Given the description of an element on the screen output the (x, y) to click on. 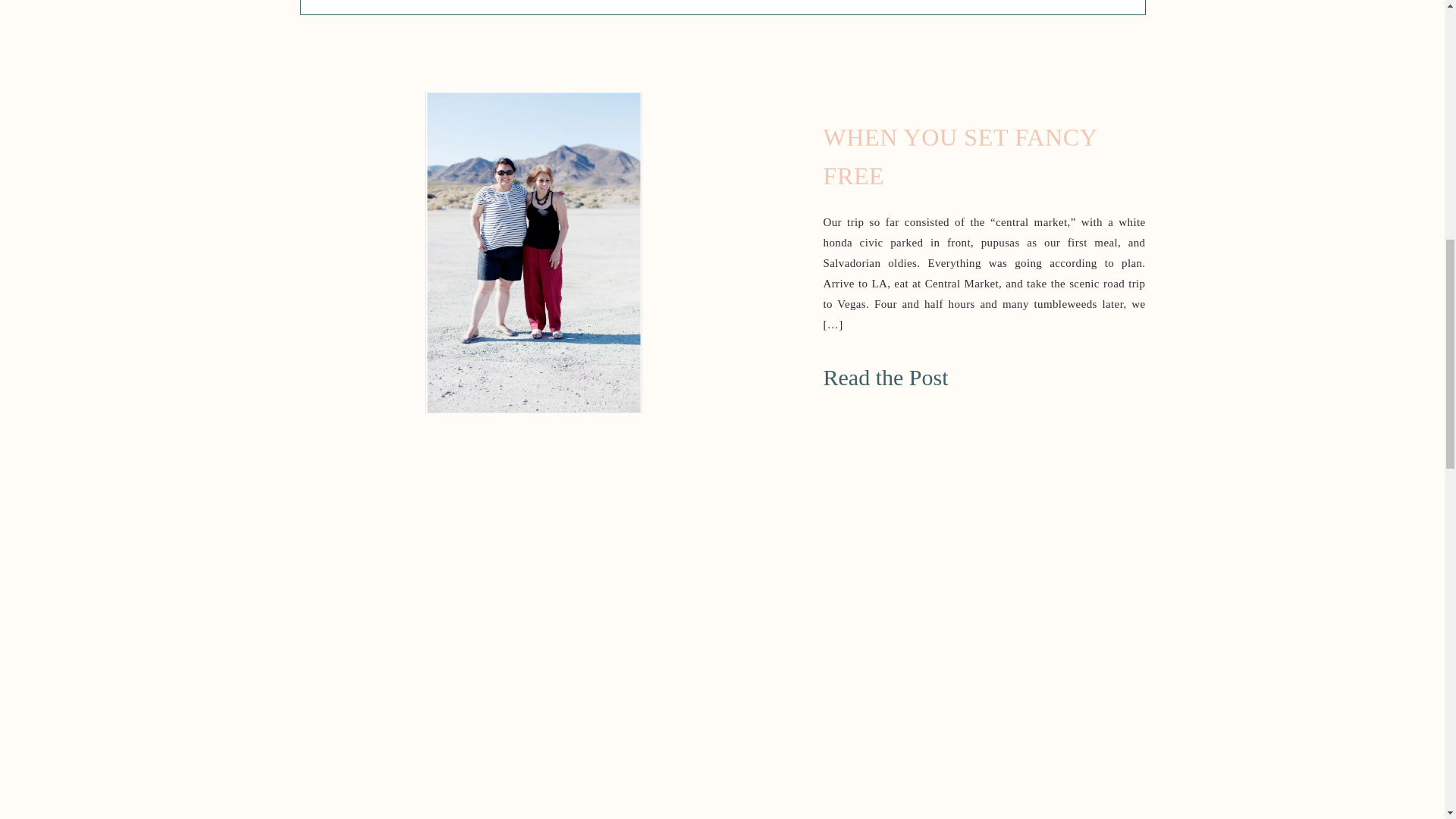
Read the Post (920, 371)
WHEN YOU SET FANCY FREE (920, 371)
WHEN YOU SET FANCY FREE (960, 156)
